Given the description of an element on the screen output the (x, y) to click on. 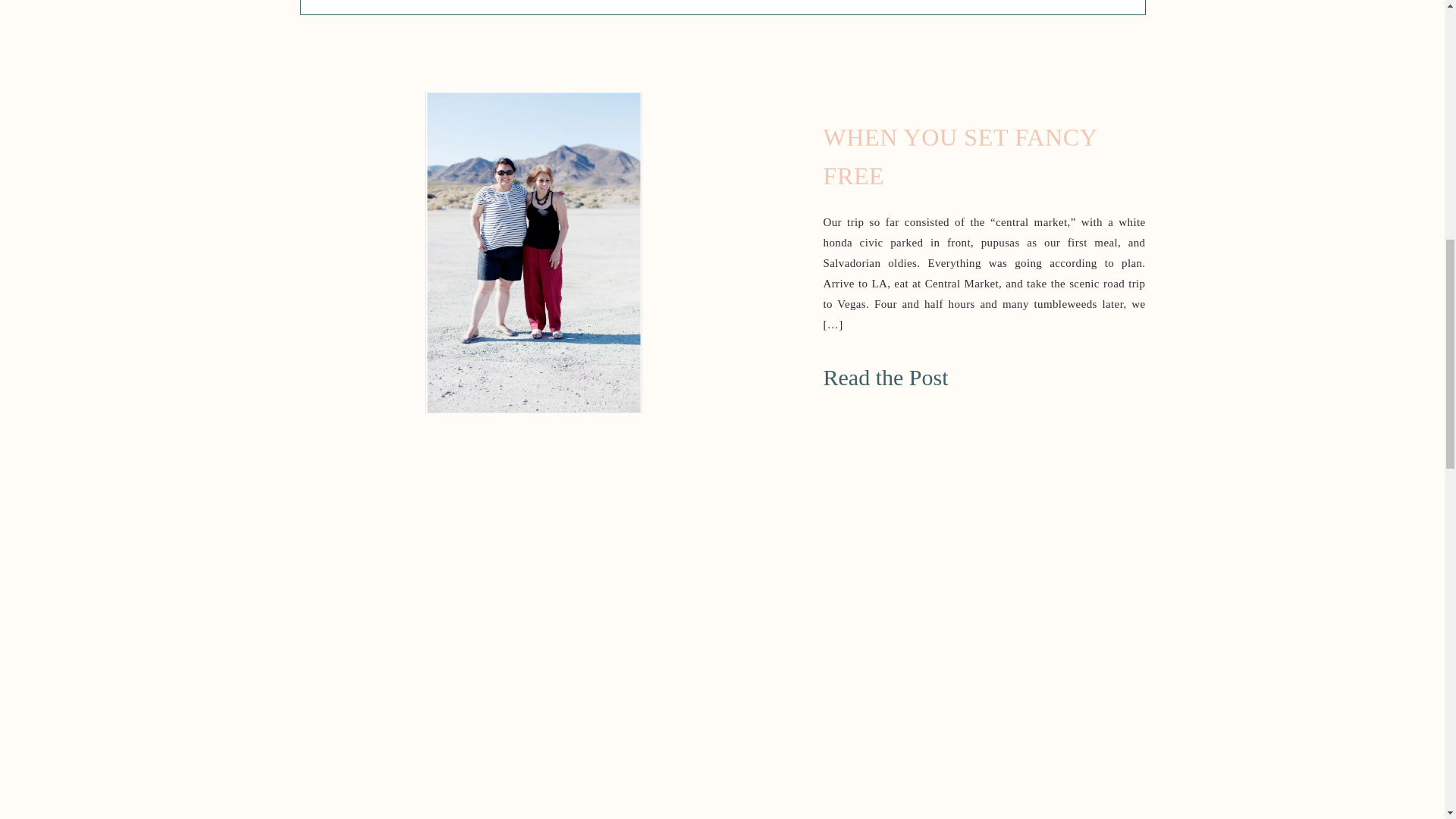
Read the Post (920, 371)
WHEN YOU SET FANCY FREE (920, 371)
WHEN YOU SET FANCY FREE (960, 156)
